Given the description of an element on the screen output the (x, y) to click on. 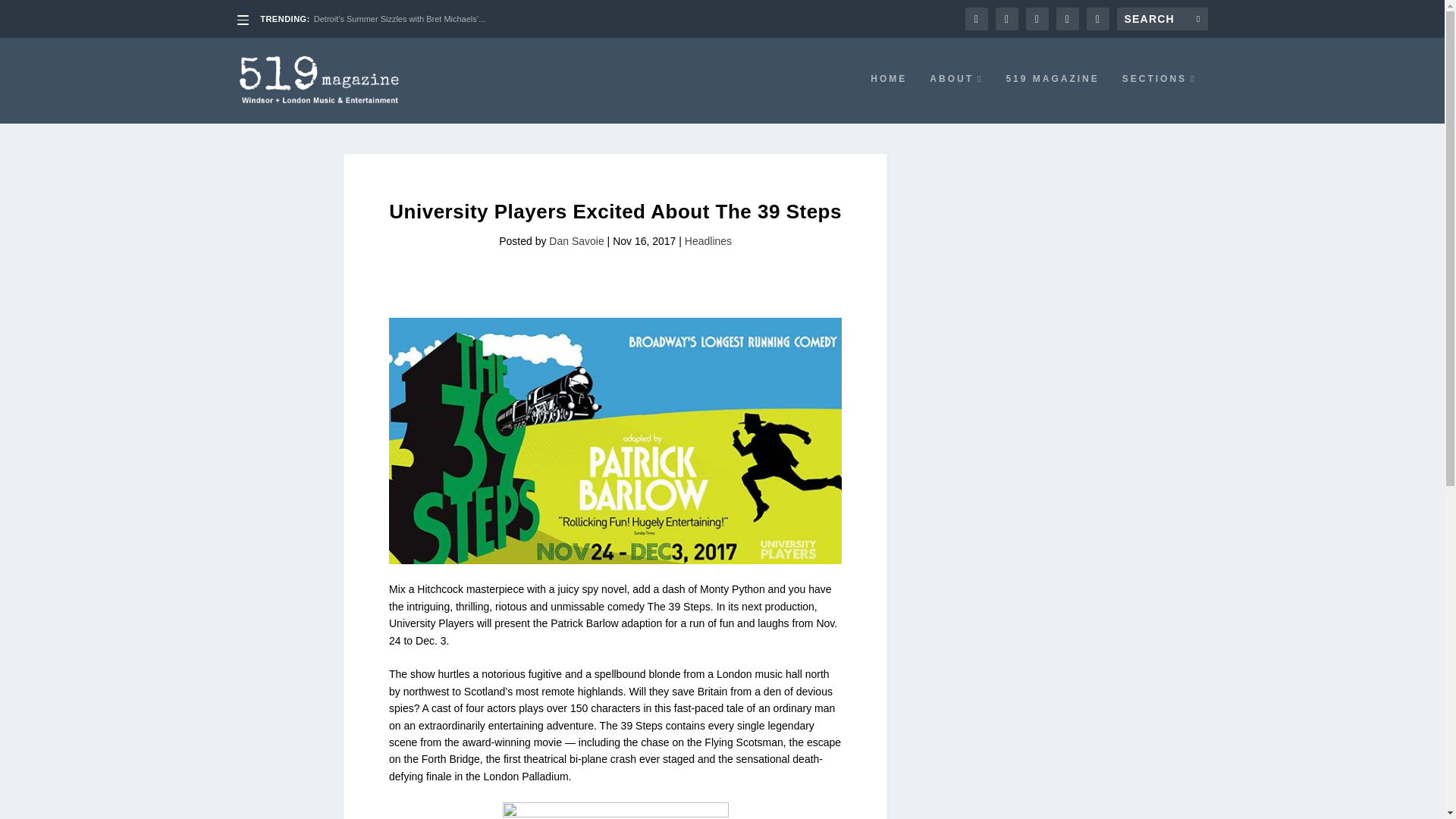
Posts by Dan Savoie (576, 241)
Headlines (708, 241)
Search for: (1161, 18)
SECTIONS (1159, 97)
Dan Savoie (576, 241)
ABOUT (956, 97)
519 MAGAZINE (1052, 97)
